Given the description of an element on the screen output the (x, y) to click on. 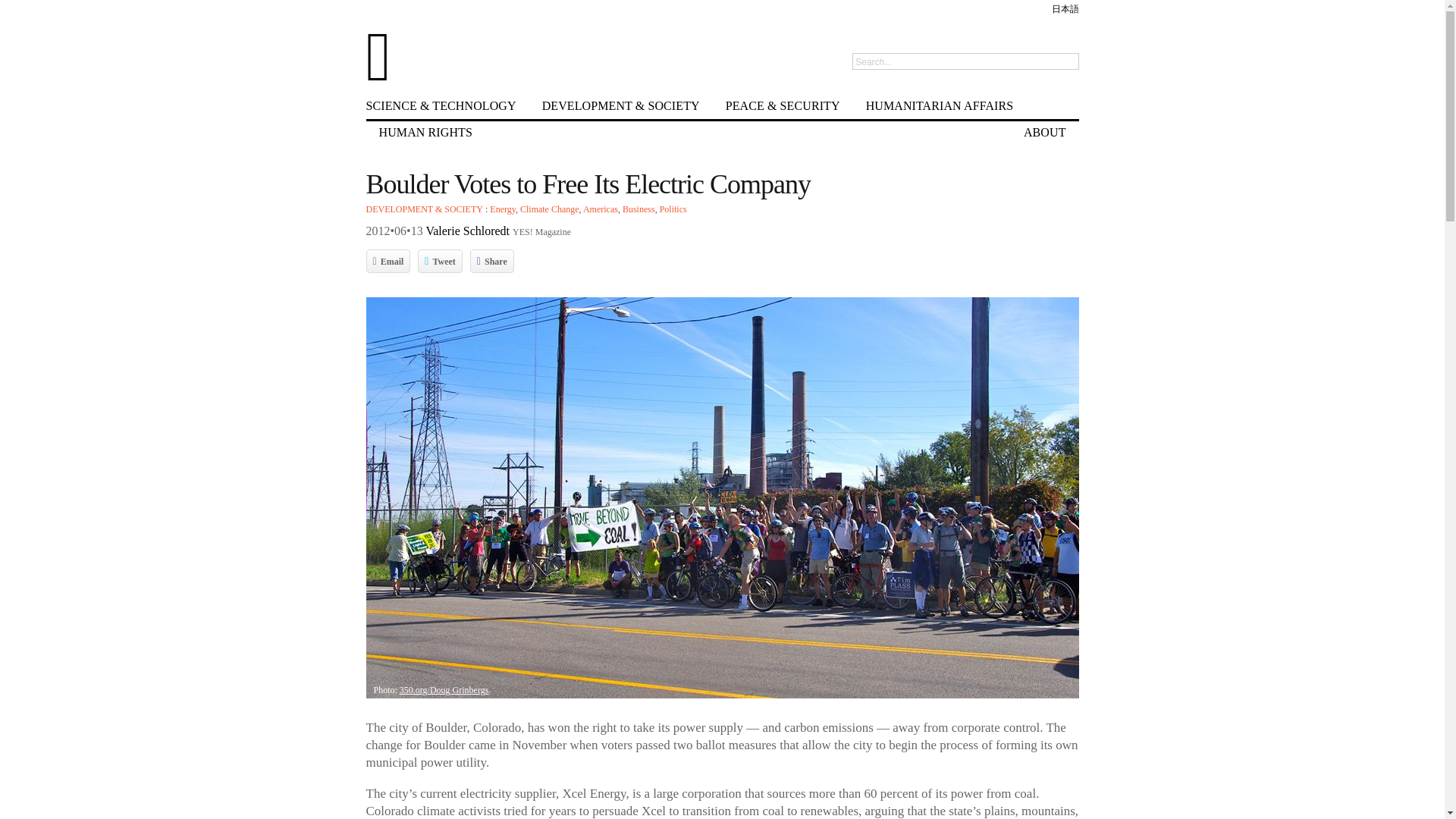
ABOUT (1044, 130)
Email (387, 261)
Americas (600, 208)
Tweet (440, 261)
HUMAN RIGHTS (424, 130)
Valerie Schloredt (467, 230)
Politics (673, 208)
Energy (502, 208)
Business (639, 208)
Share (492, 261)
HUMANITARIAN AFFAIRS (939, 104)
Climate Change (549, 208)
